Given the description of an element on the screen output the (x, y) to click on. 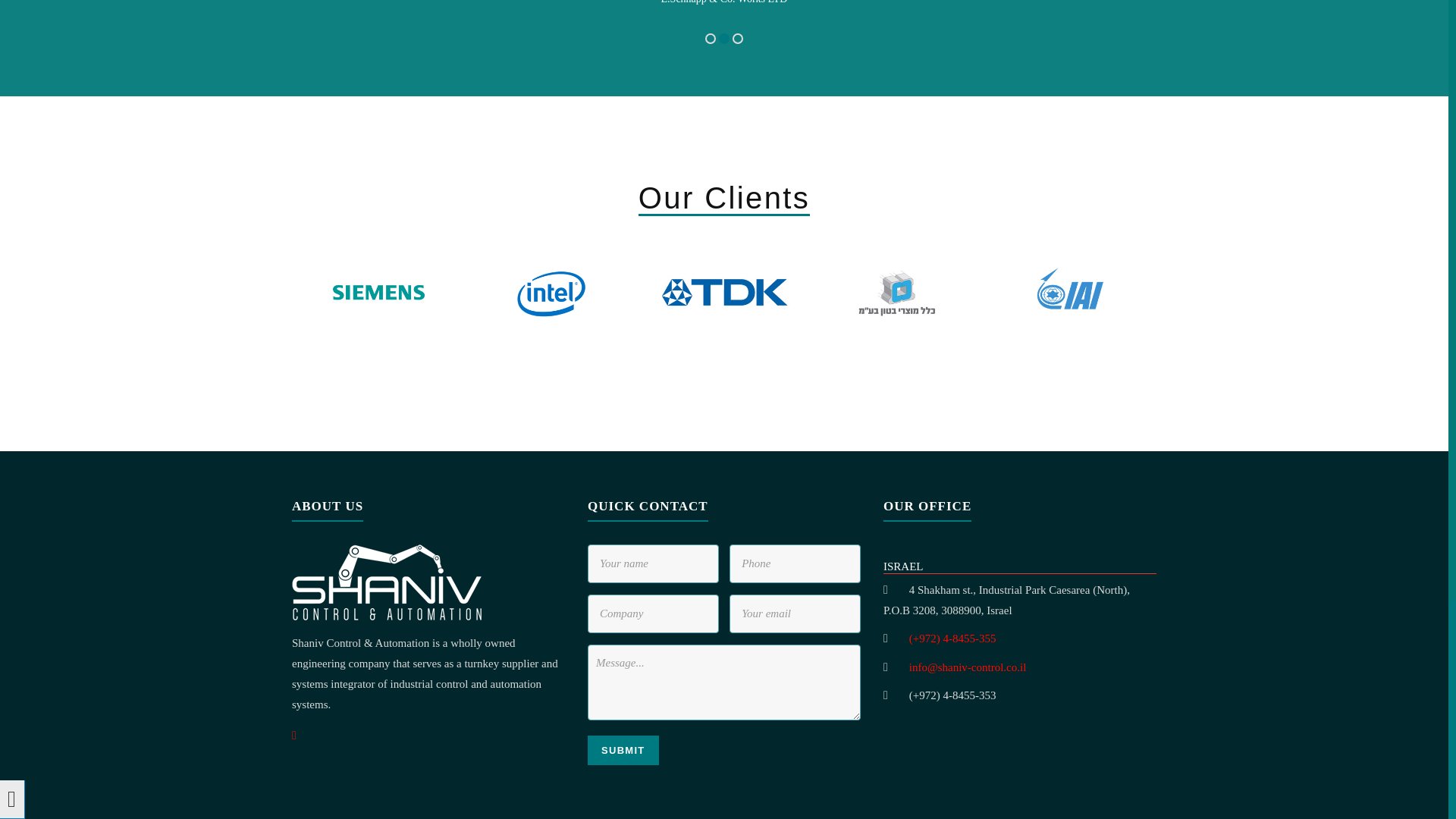
Submit (623, 749)
